Given the description of an element on the screen output the (x, y) to click on. 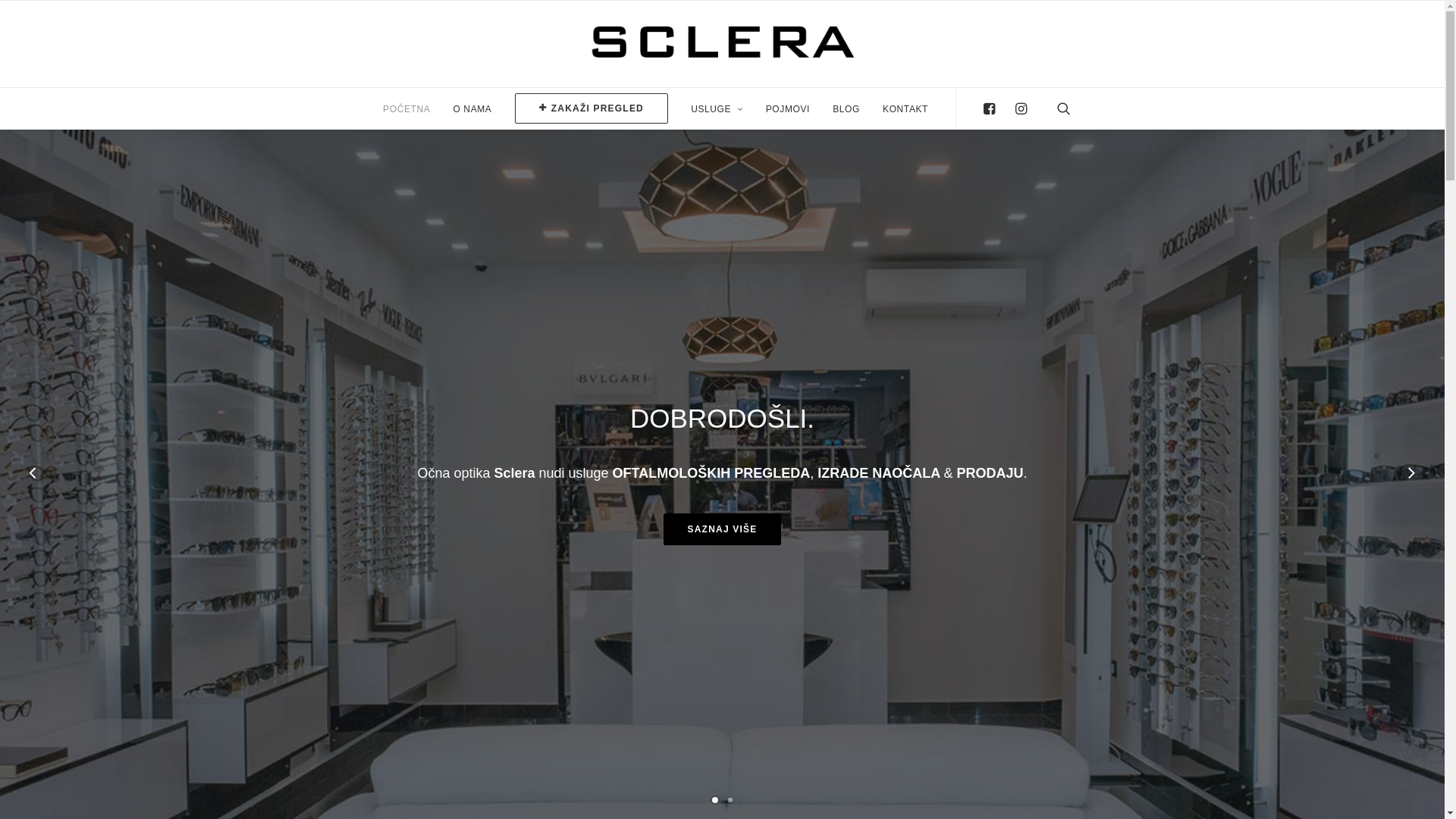
POJMOVI Element type: text (787, 107)
KONTAKT Element type: text (900, 107)
USLUGE Element type: text (716, 107)
BLOG Element type: text (845, 107)
O NAMA Element type: text (471, 107)
